Given the description of an element on the screen output the (x, y) to click on. 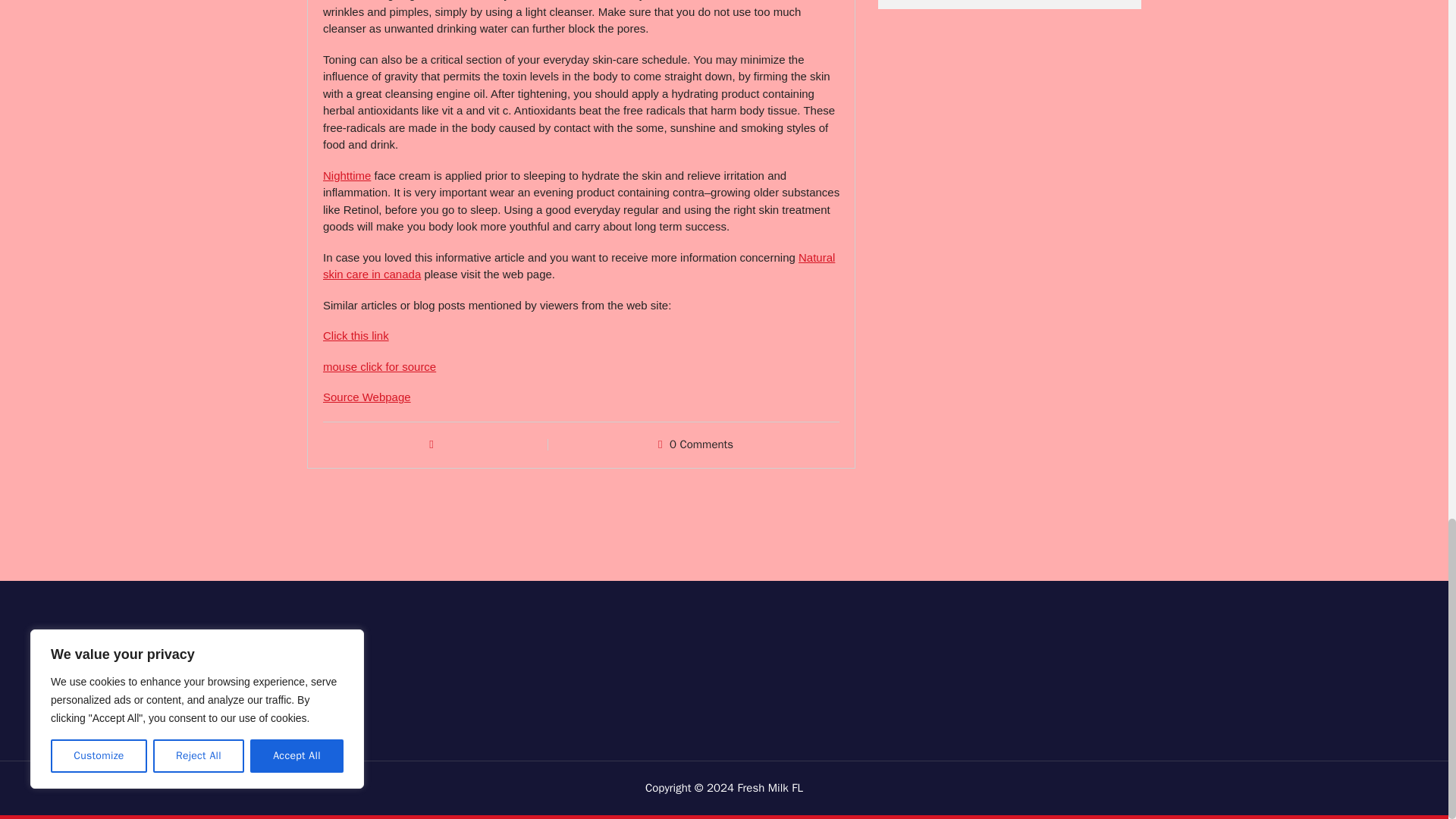
Nighttime (347, 174)
mouse click for source (379, 366)
Natural skin care in canada (578, 265)
Click this link (355, 335)
